Given the description of an element on the screen output the (x, y) to click on. 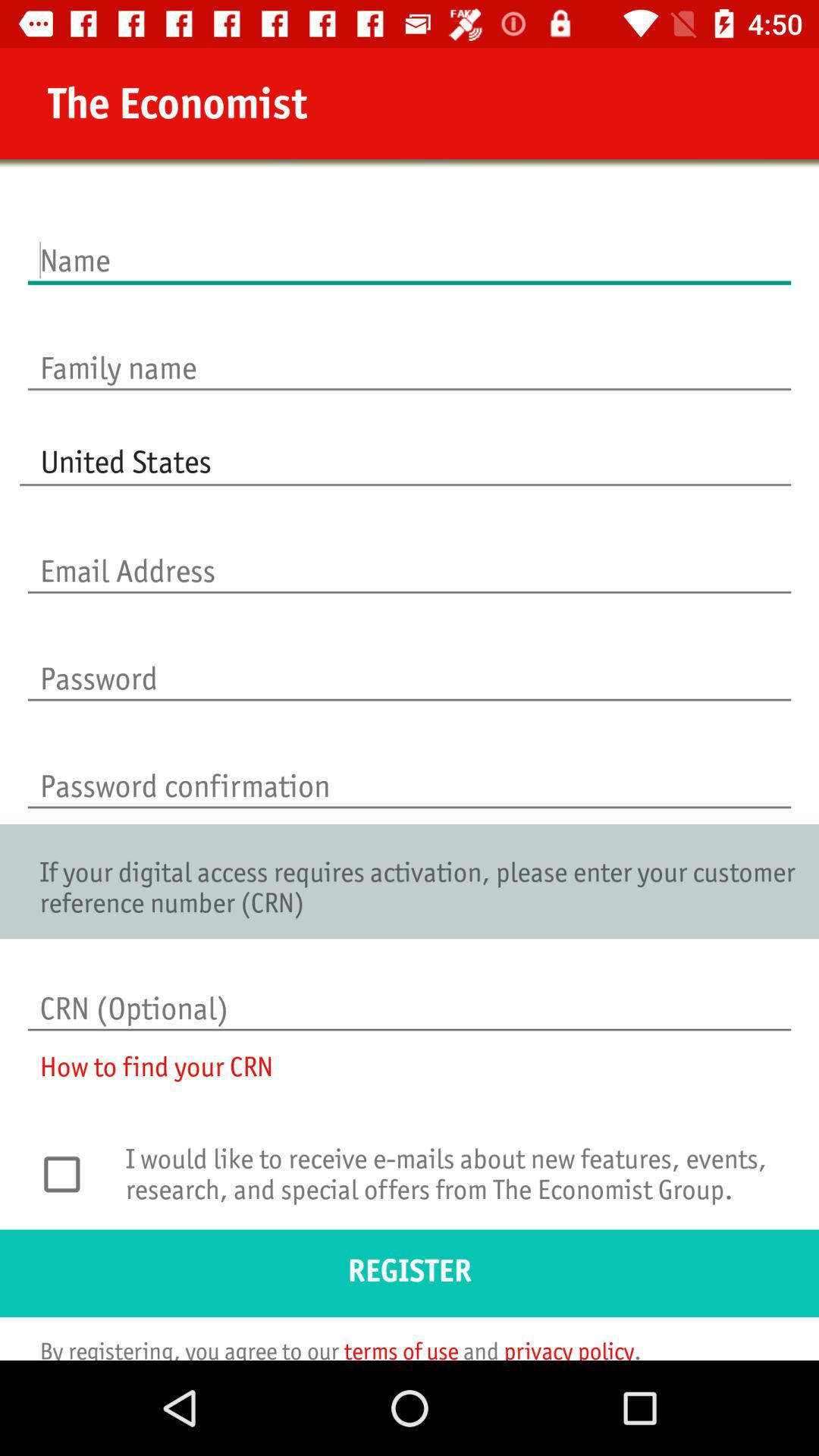
email line (409, 555)
